Given the description of an element on the screen output the (x, y) to click on. 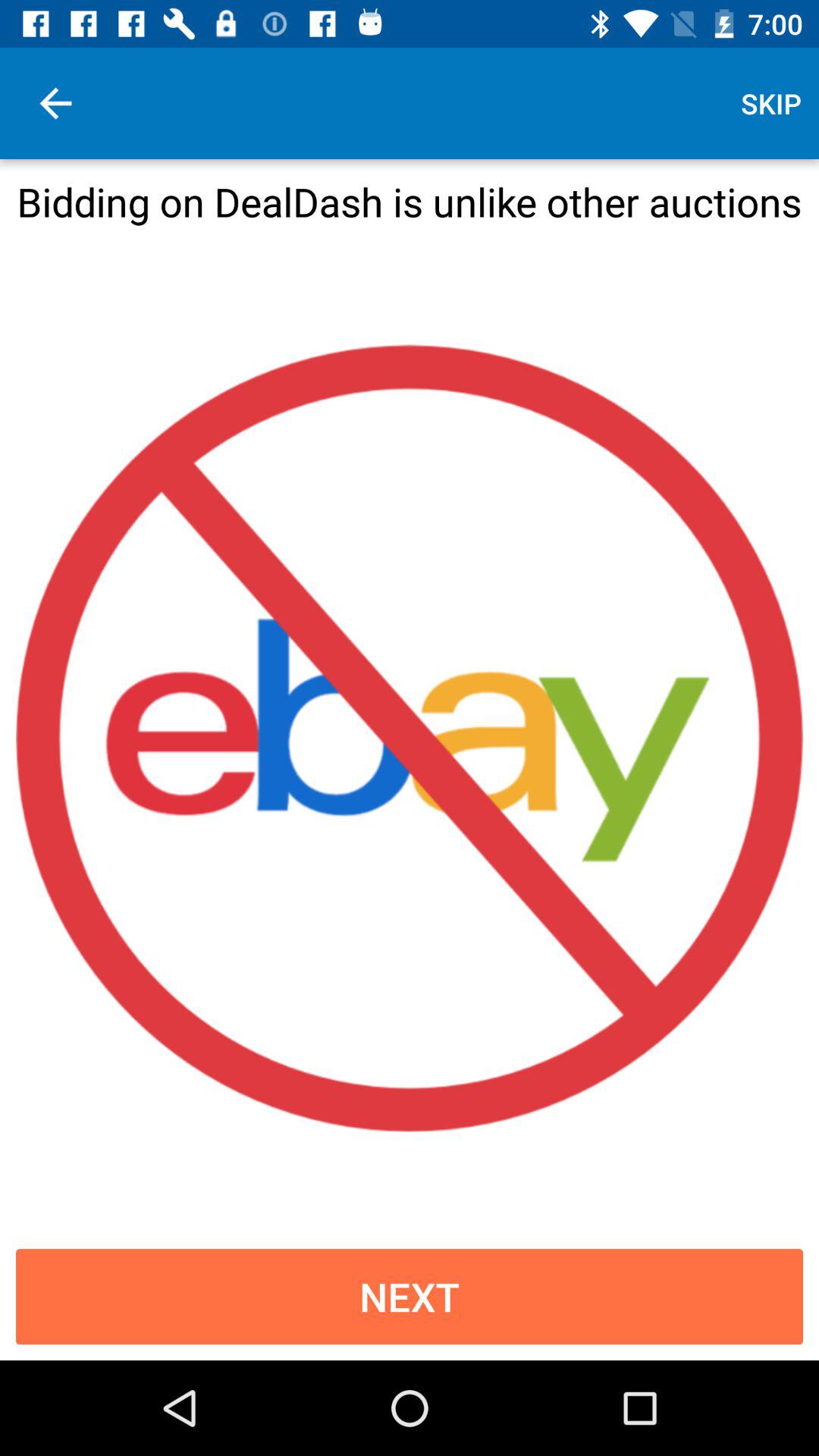
launch icon at the top left corner (55, 103)
